Given the description of an element on the screen output the (x, y) to click on. 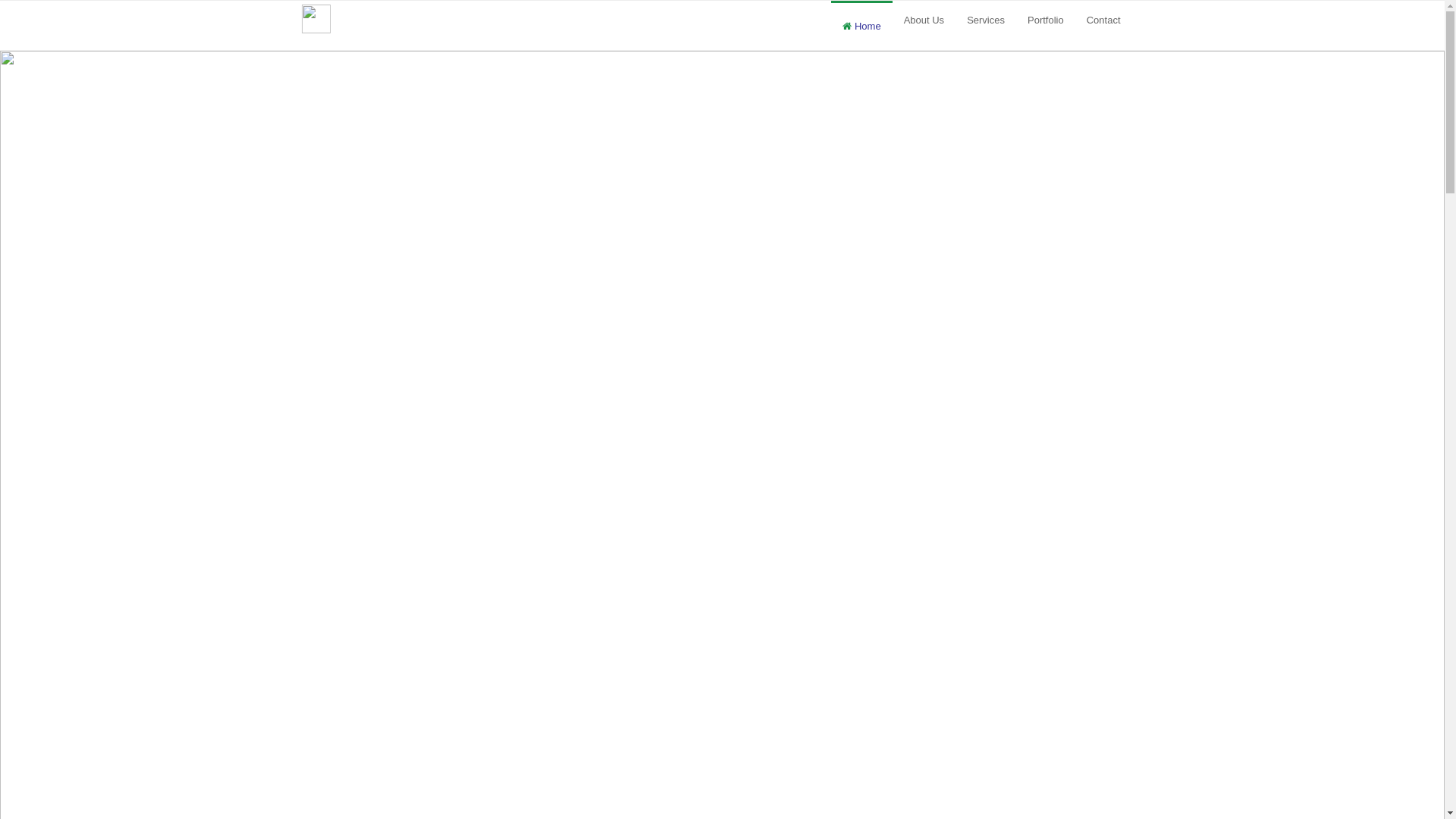
Portfolio Element type: text (1045, 20)
Contact Element type: text (1103, 20)
Services Element type: text (985, 20)
About Us Element type: text (923, 20)
Home Element type: text (861, 25)
